Given the description of an element on the screen output the (x, y) to click on. 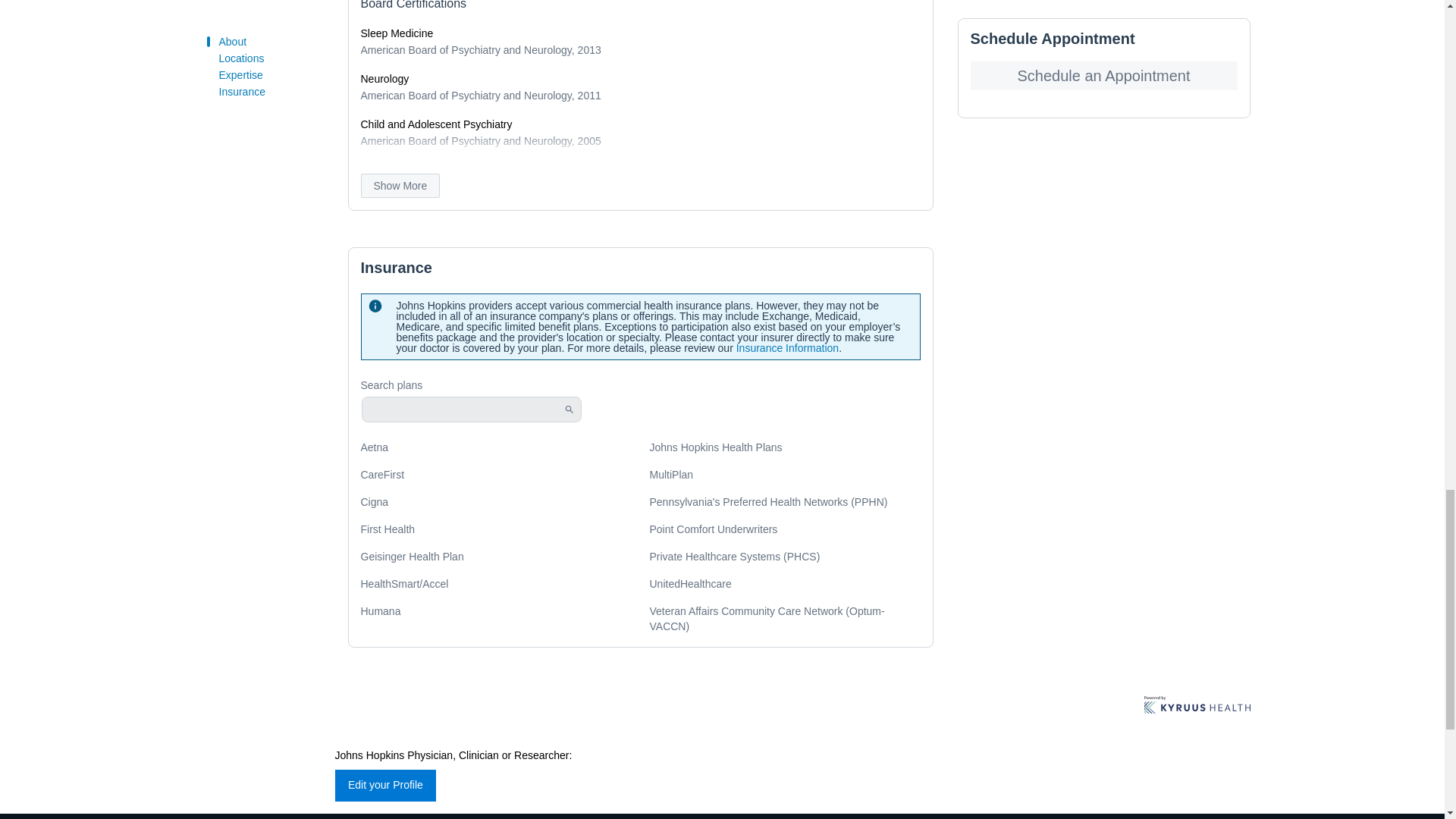
Edit your Profile (385, 785)
Insurance Information (787, 347)
Show More (401, 185)
